Given the description of an element on the screen output the (x, y) to click on. 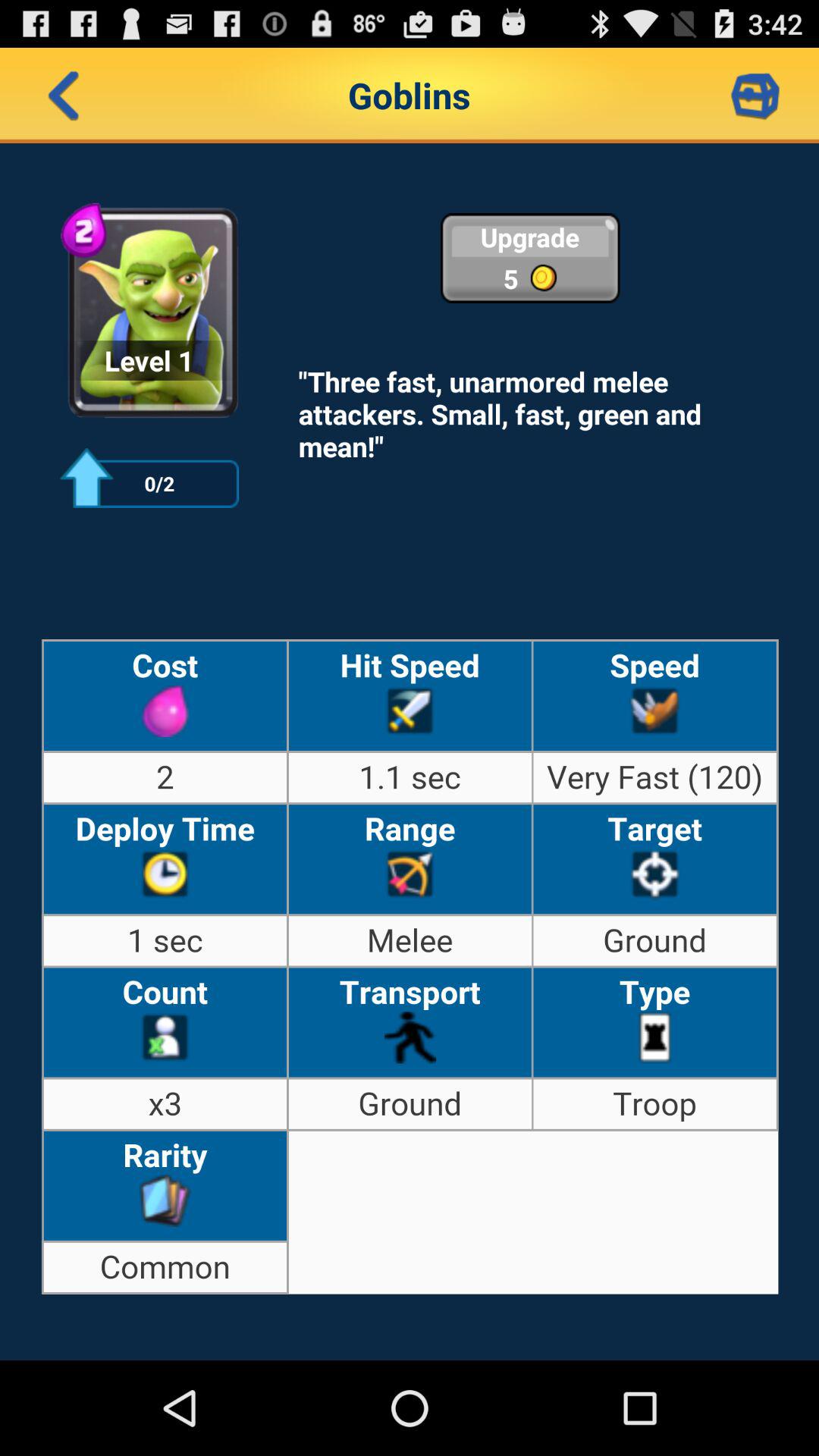
back button (63, 95)
